Given the description of an element on the screen output the (x, y) to click on. 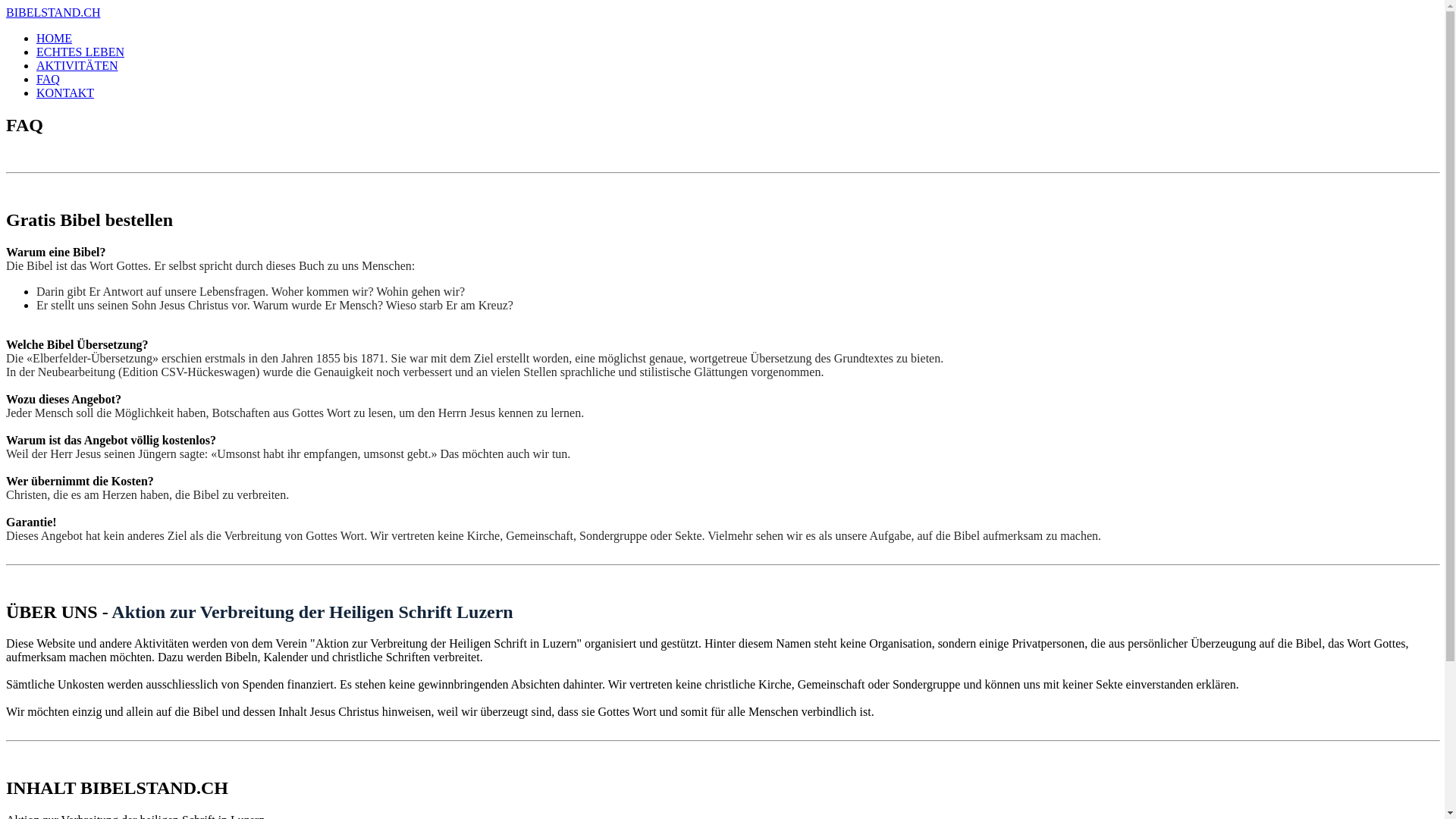
BIBELSTAND.CH Element type: text (53, 12)
ECHTES LEBEN Element type: text (80, 51)
FAQ Element type: text (47, 78)
KONTAKT Element type: text (65, 92)
HOME Element type: text (54, 37)
